Given the description of an element on the screen output the (x, y) to click on. 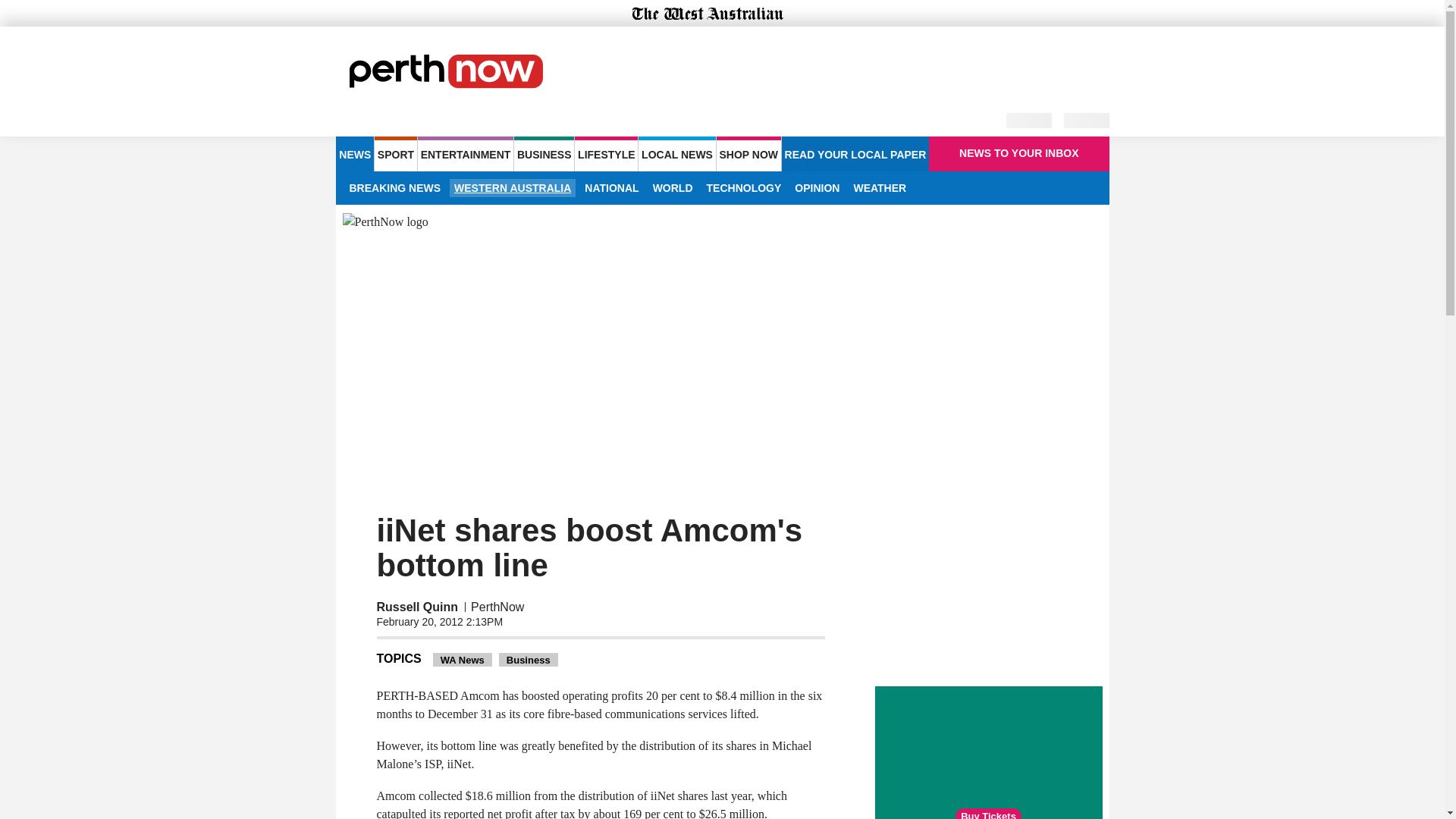
BUSINESS (543, 153)
SPORT (395, 153)
ENTERTAINMENT (465, 153)
NEWS (354, 153)
